Given the description of an element on the screen output the (x, y) to click on. 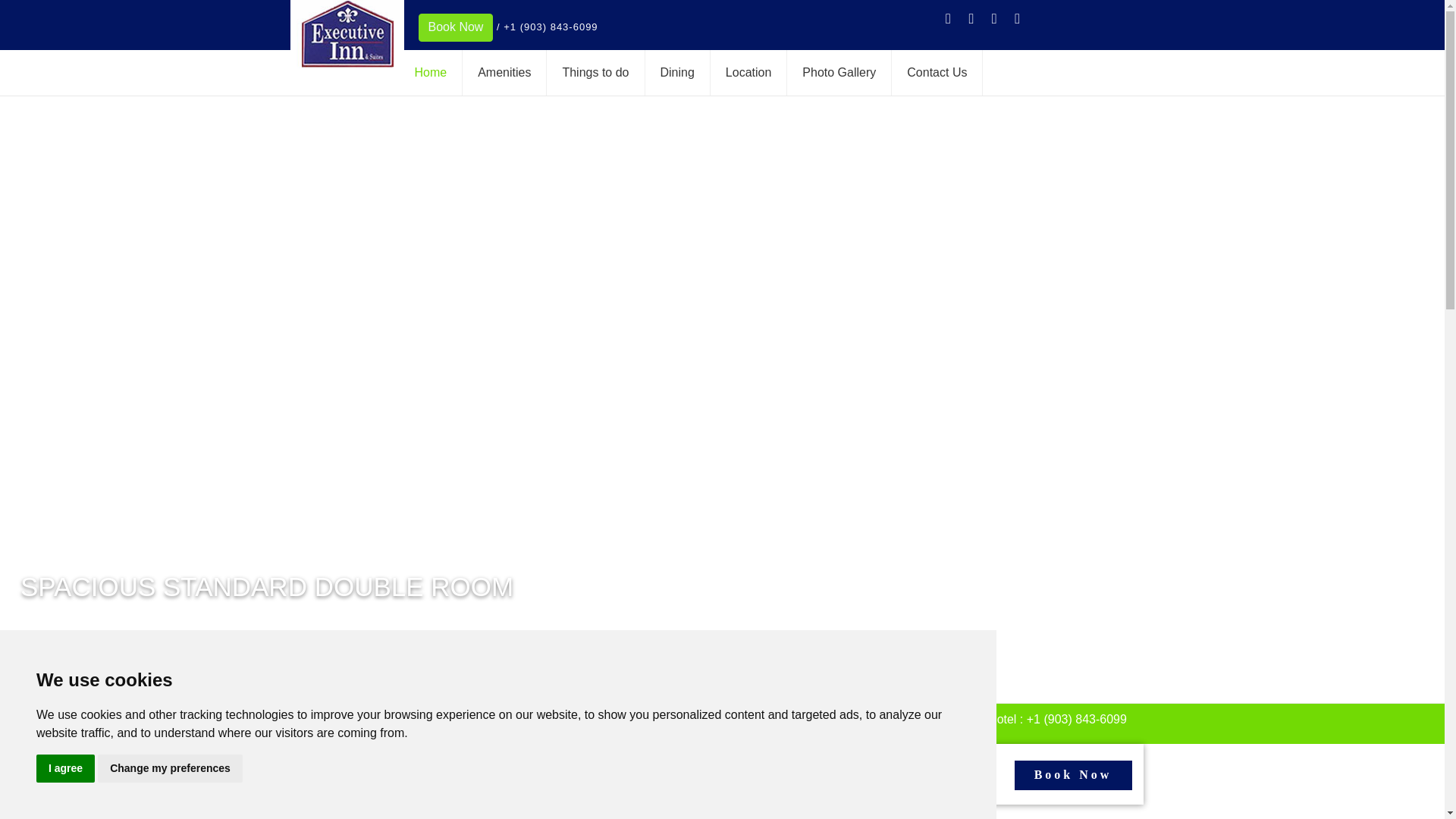
Book Now (151, 26)
Amenities (648, 72)
Book Now (1073, 775)
Things to do (705, 72)
Check-Out (511, 776)
Photo Gallery (903, 72)
Dining (776, 72)
I agree (65, 756)
Change my preferences (170, 756)
Contact Us (988, 72)
Book Now (118, 27)
Check-In (371, 776)
Location (830, 72)
Home (588, 72)
Book Now (1073, 775)
